Given the description of an element on the screen output the (x, y) to click on. 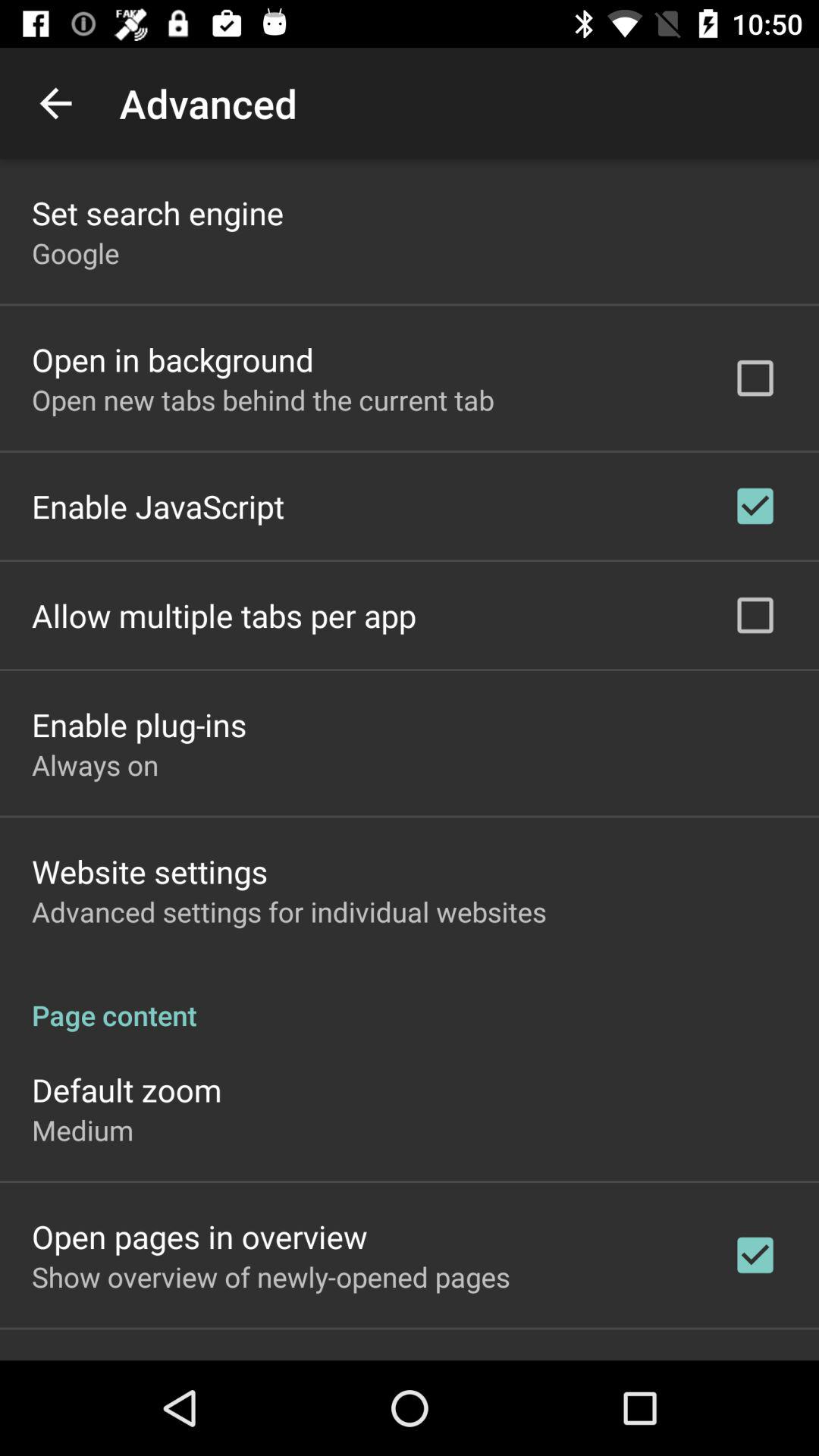
jump until advanced settings for icon (288, 911)
